Given the description of an element on the screen output the (x, y) to click on. 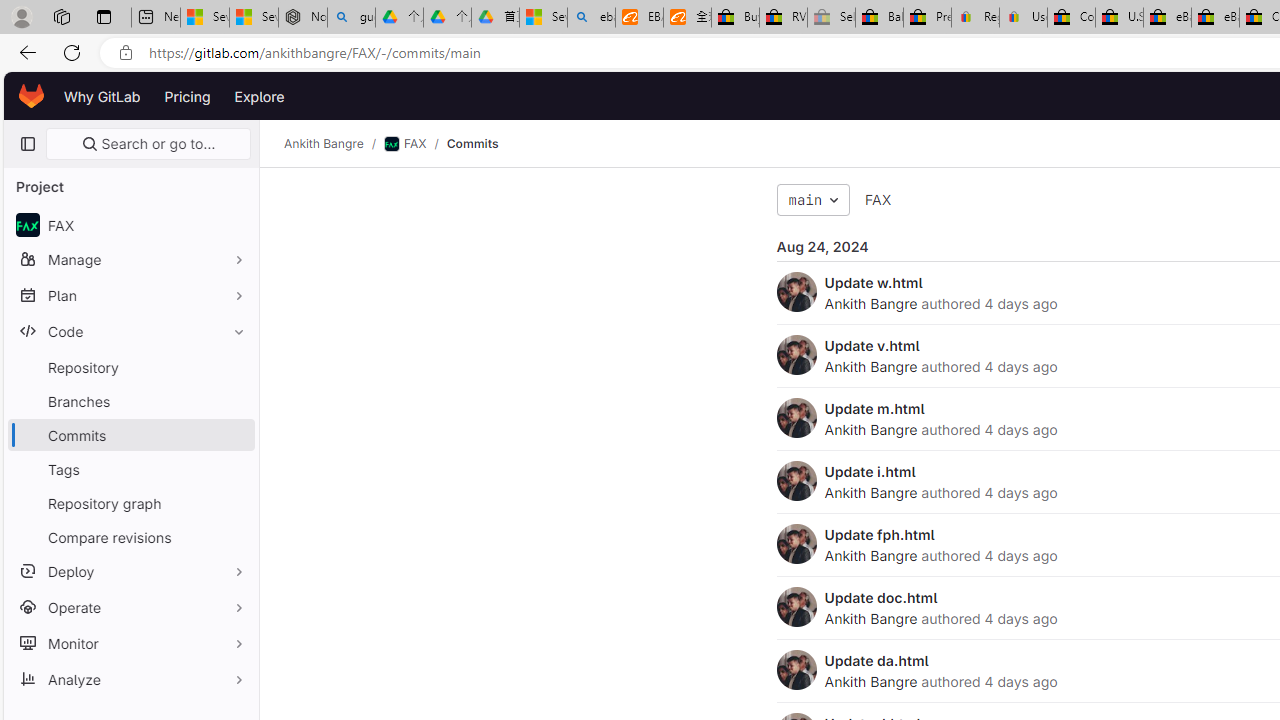
Branches (130, 400)
User Privacy Notice | eBay (1023, 17)
Analyze (130, 678)
Pricing (187, 95)
Update i.html (870, 471)
Ankith Bangre's avatar (795, 669)
Commits (472, 143)
Homepage (31, 95)
Why GitLab (102, 95)
Deploy (130, 570)
Repository (130, 367)
Pricing (187, 95)
Monitor (130, 642)
Ankith Bangre's avatar (795, 669)
